Given the description of an element on the screen output the (x, y) to click on. 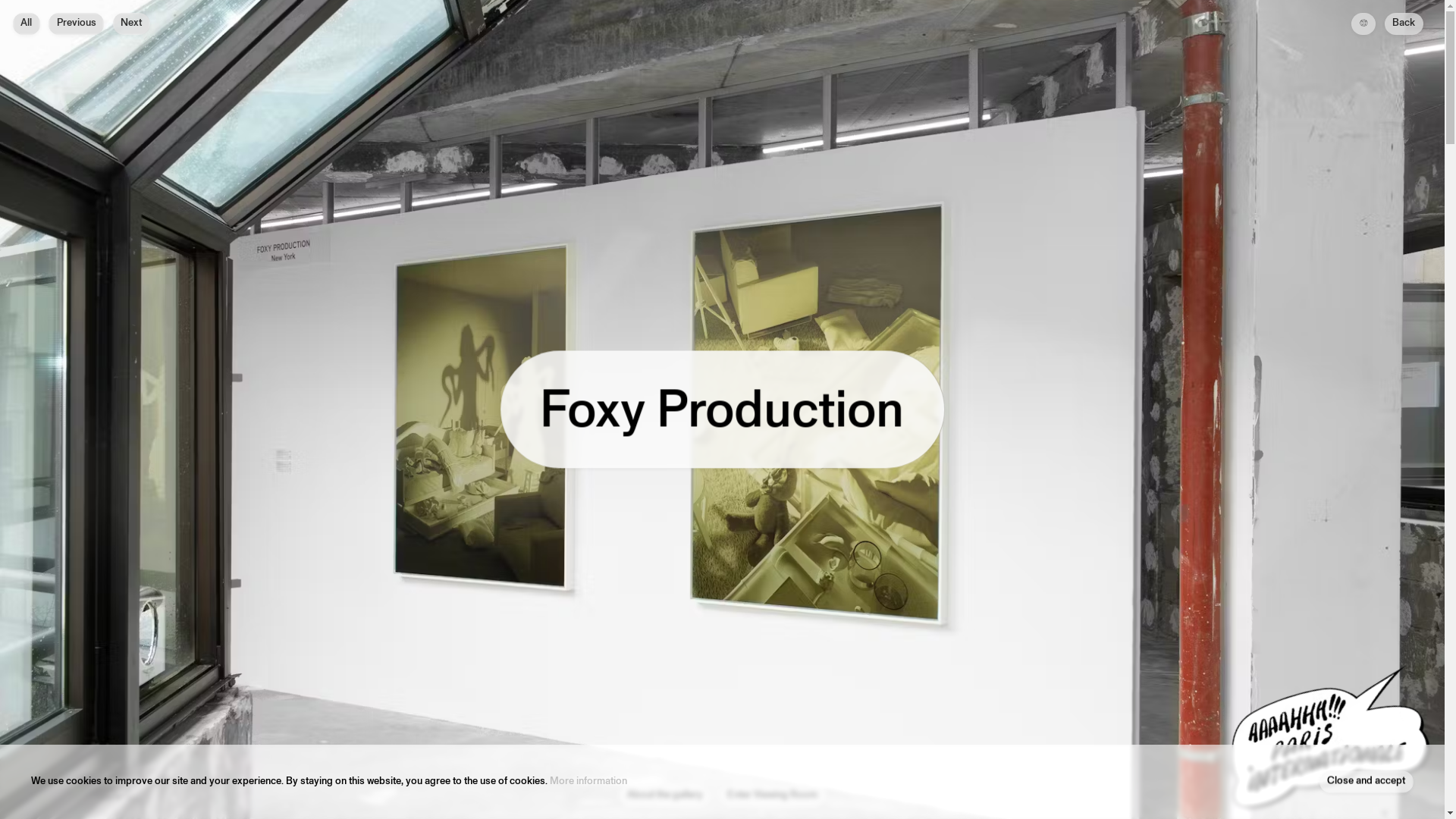
Close and accept (1365, 781)
Next (131, 23)
All (25, 23)
Previous (75, 23)
More information (588, 781)
Back (1403, 23)
